Given the description of an element on the screen output the (x, y) to click on. 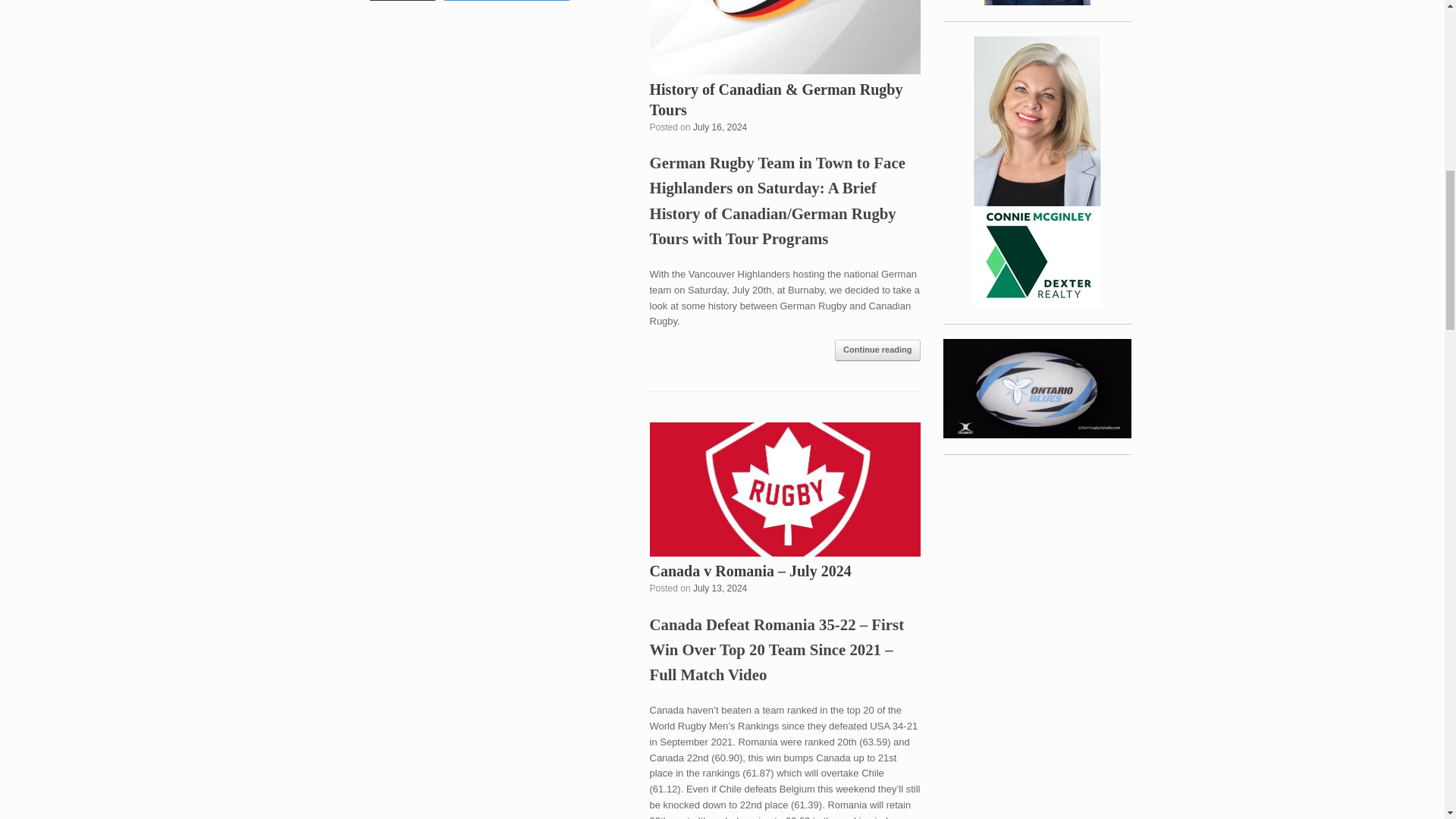
10:00 am (719, 127)
2:22 am (719, 588)
